Given the description of an element on the screen output the (x, y) to click on. 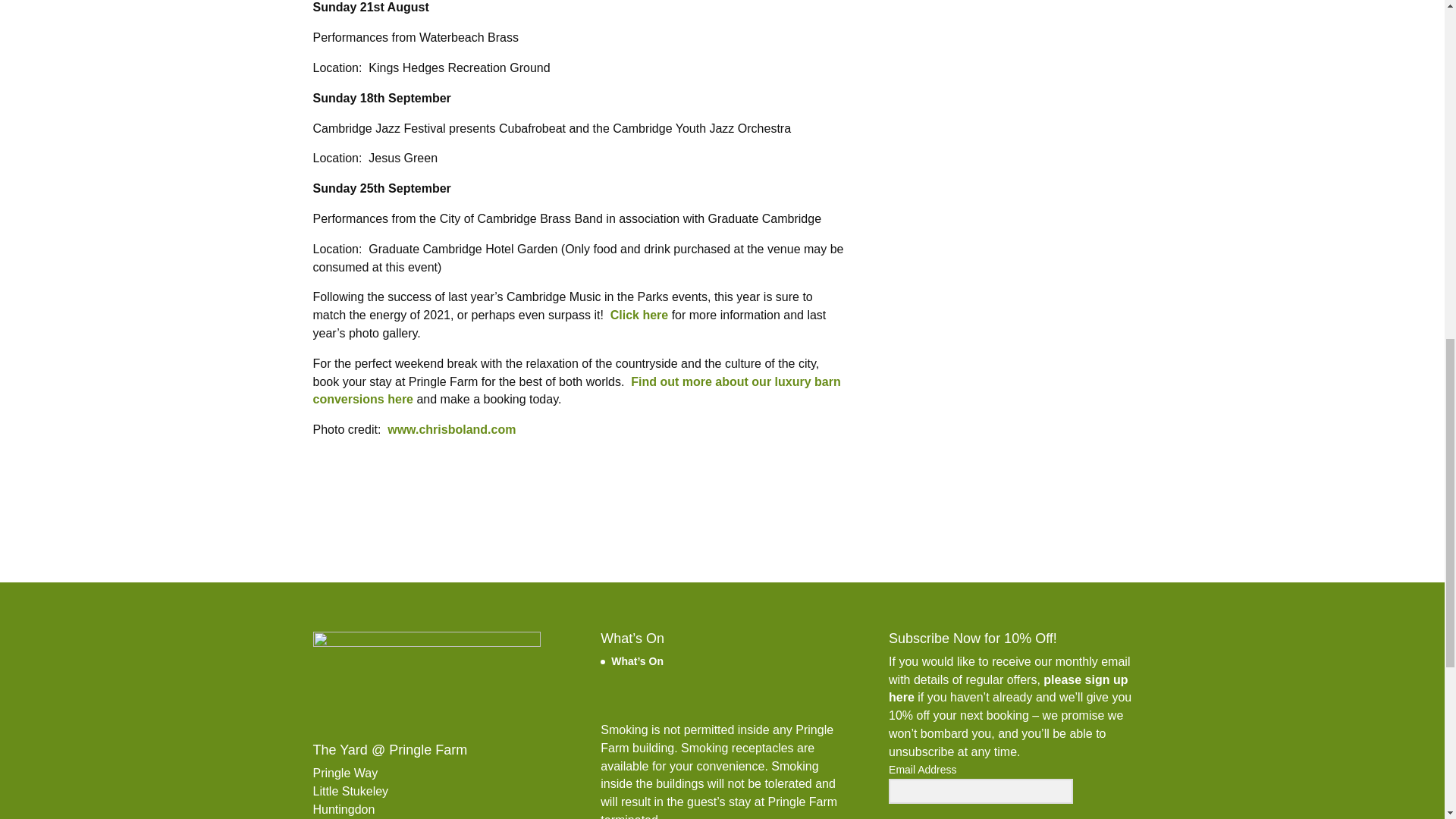
Click here (639, 314)
Find out more about our luxury barn conversions here (576, 390)
www.chrisboland.com (451, 429)
